Given the description of an element on the screen output the (x, y) to click on. 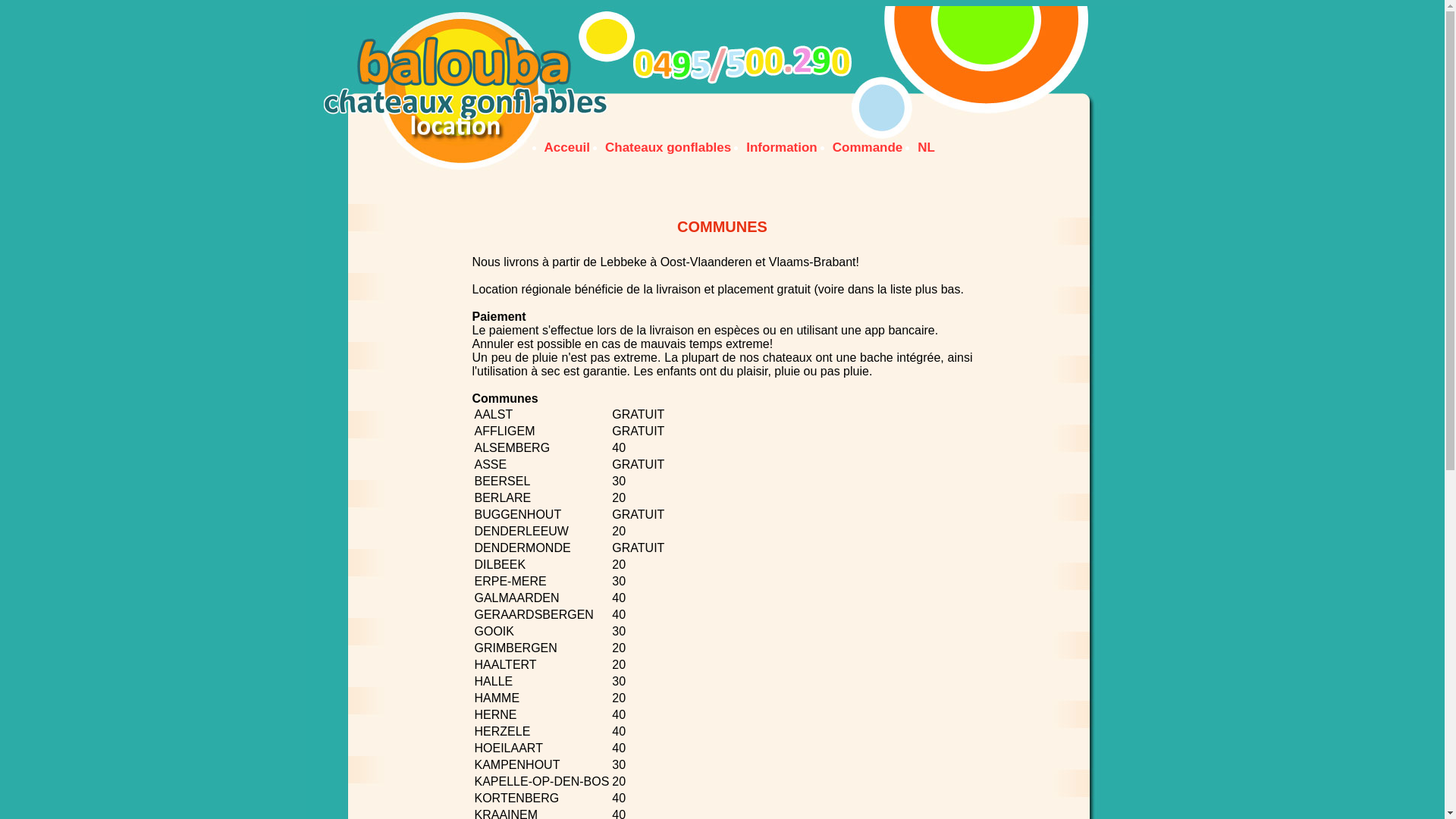
Commande Element type: text (867, 147)
Acceuil Element type: text (566, 147)
NL Element type: text (926, 147)
Information Element type: text (781, 147)
Chateaux gonflables Element type: text (668, 147)
